Given the description of an element on the screen output the (x, y) to click on. 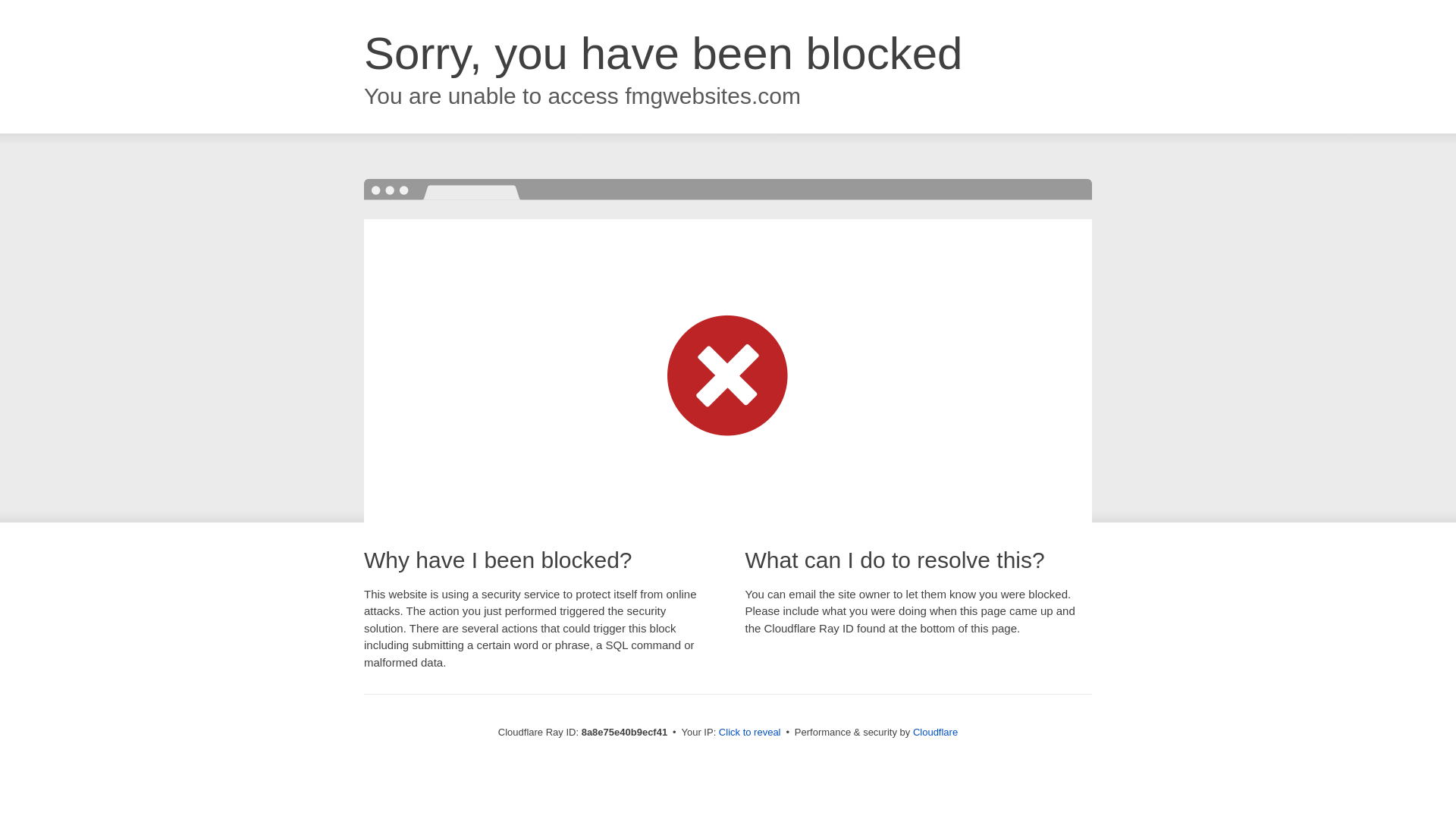
Click to reveal (749, 732)
Cloudflare (935, 731)
